Given the description of an element on the screen output the (x, y) to click on. 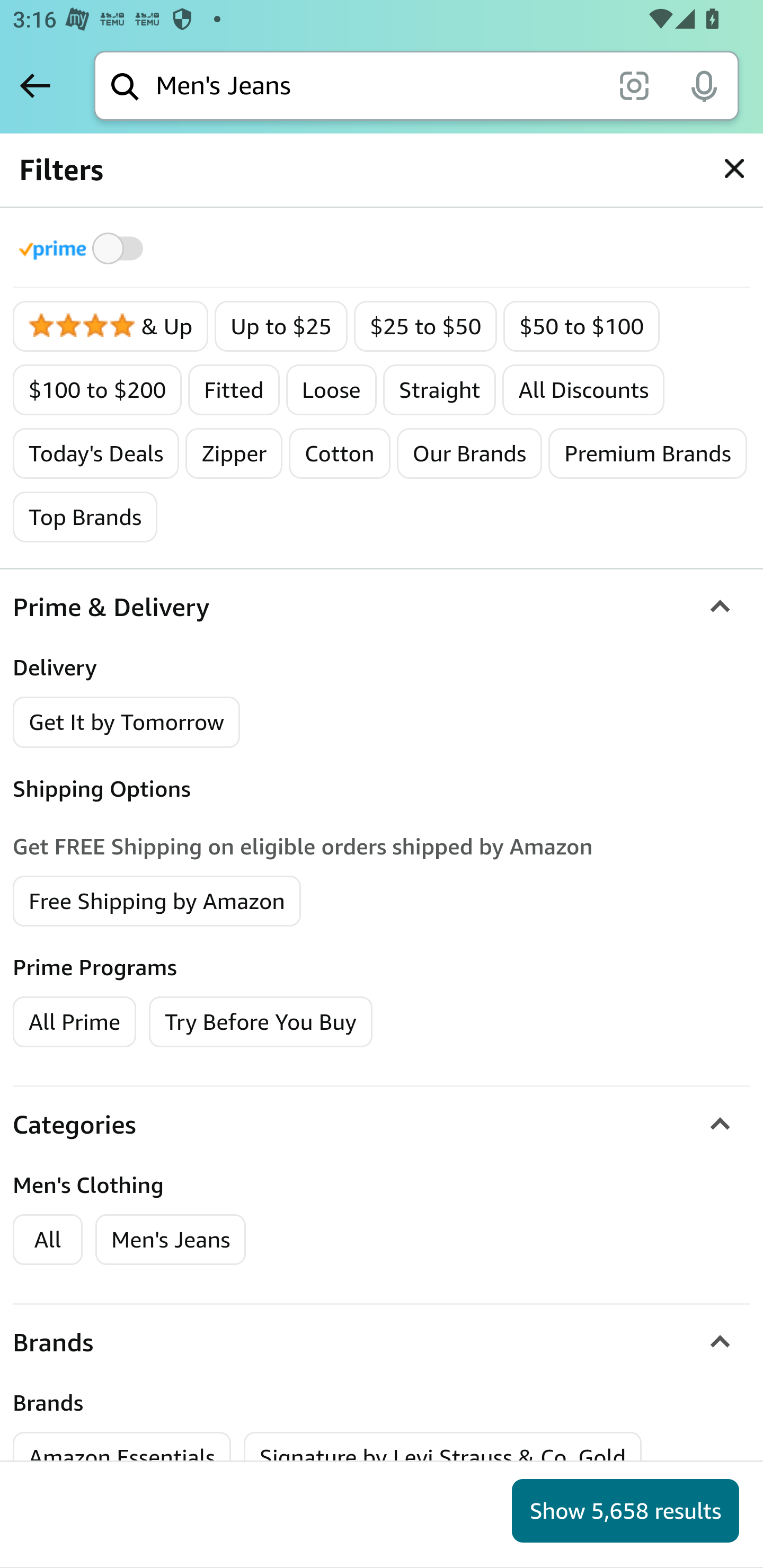
Back (35, 85)
scan it (633, 85)
Toggle to filter by Prime products Prime Eligible (83, 247)
4 Stars & Up (110, 326)
Up to $25 (280, 326)
$25 to $50 (424, 326)
$50 to $100 (581, 326)
$100 to $200 (97, 390)
Fitted (233, 390)
Loose (330, 390)
Straight (439, 390)
All Discounts (584, 390)
Today's Deals (95, 453)
Zipper (233, 453)
Cotton (338, 453)
Our Brands (469, 453)
Premium Brands (647, 453)
Top Brands (85, 517)
Prime & Delivery (381, 607)
Get It by Tomorrow (126, 721)
Free Shipping by Amazon (157, 899)
All Prime (74, 1020)
Try Before You Buy (260, 1020)
Categories (381, 1124)
All (47, 1239)
Men's Jeans (170, 1239)
Brands (381, 1343)
Show 5,658 results (625, 1510)
